Given the description of an element on the screen output the (x, y) to click on. 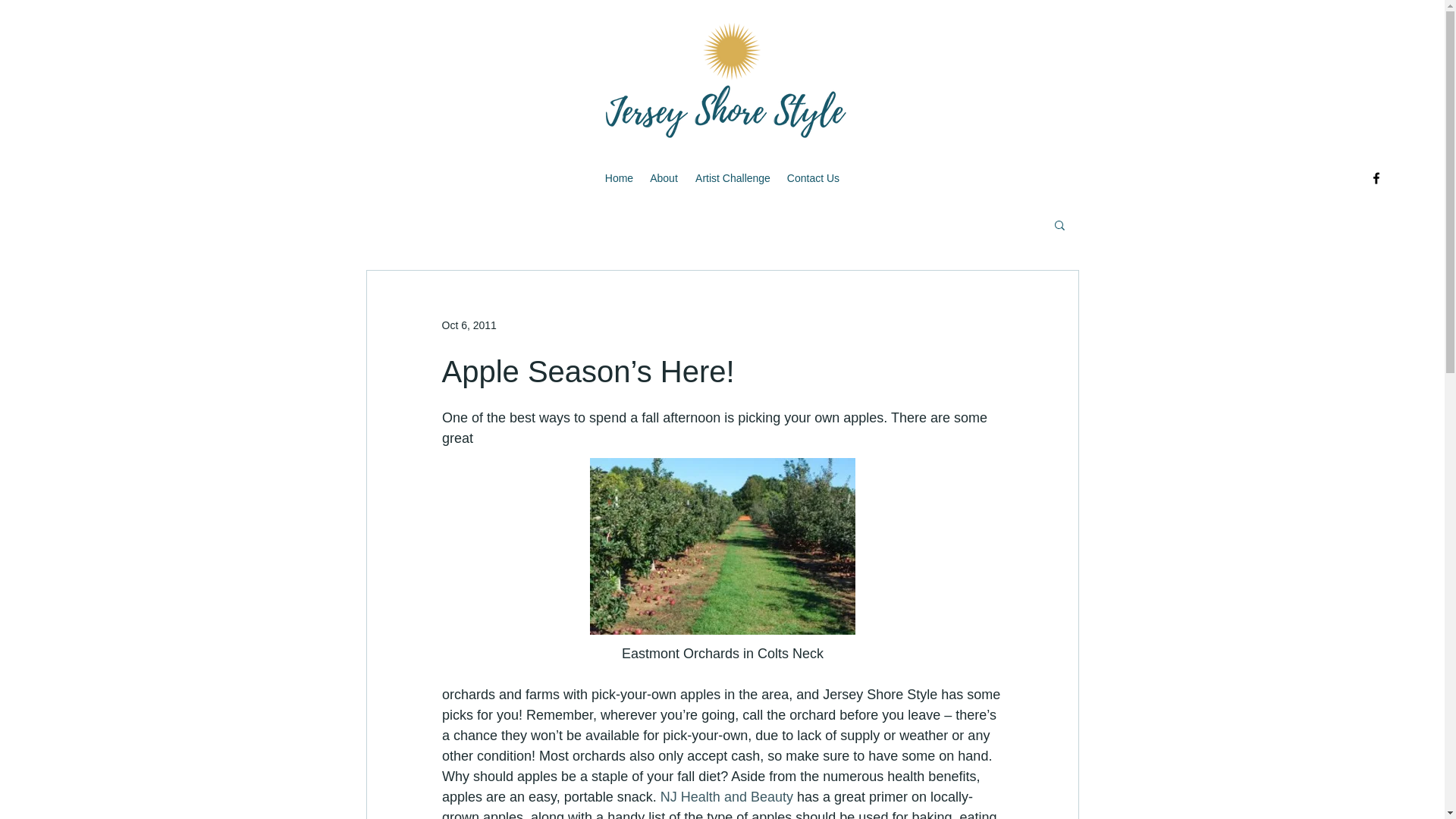
NJ Health and Beauty (725, 796)
Artist Challenge (731, 178)
Oct 6, 2011 (468, 324)
Home (618, 178)
About (662, 178)
Contact Us (812, 178)
